Given the description of an element on the screen output the (x, y) to click on. 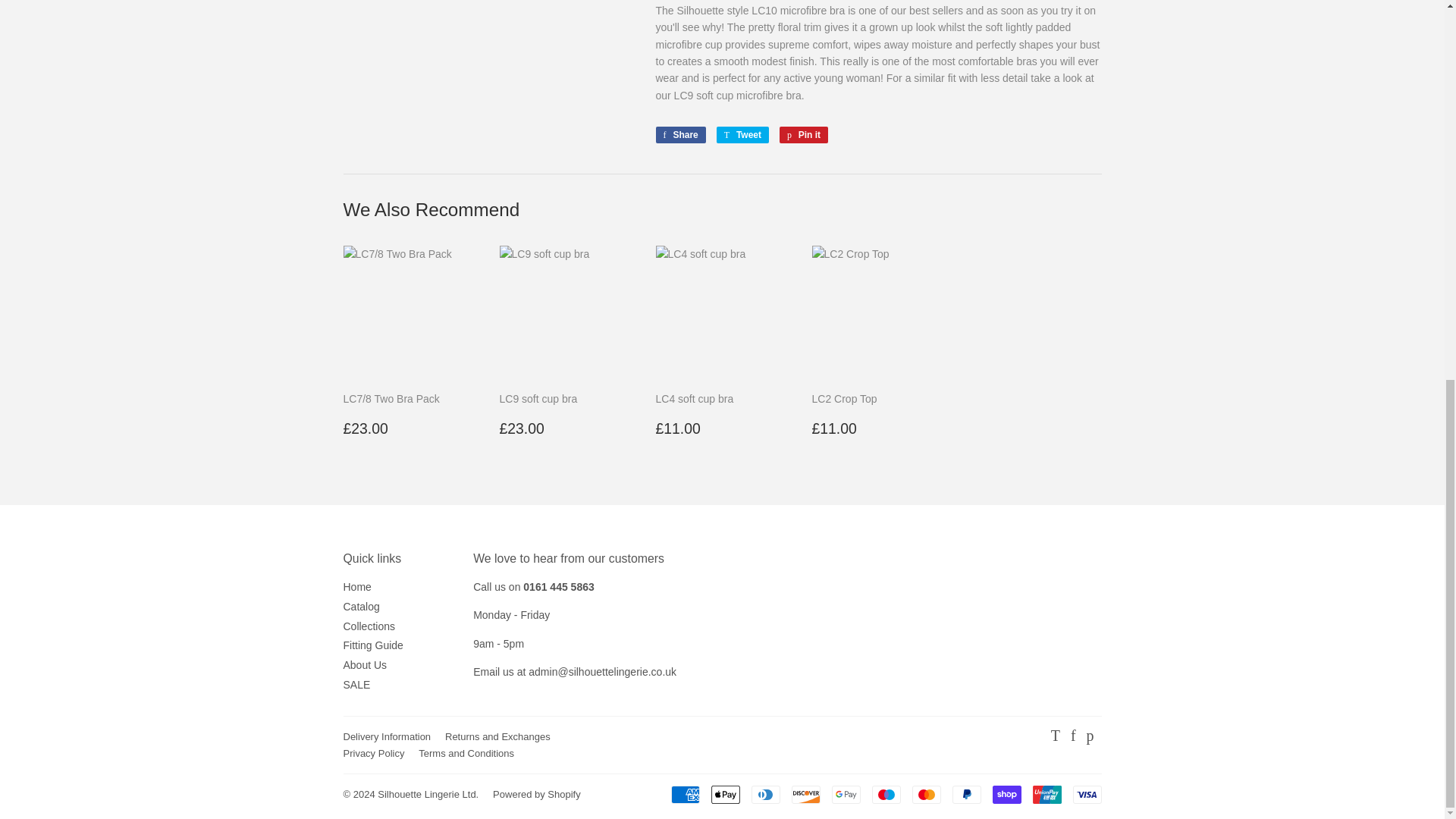
Visa (1085, 794)
Tweet on Twitter (742, 134)
Maestro (886, 794)
Diners Club (764, 794)
Mastercard (925, 794)
Shop Pay (1005, 794)
Discover (806, 794)
Apple Pay (725, 794)
Share on Facebook (679, 134)
American Express (683, 794)
Union Pay (1046, 794)
Pin on Pinterest (803, 134)
Google Pay (845, 794)
PayPal (966, 794)
